Given the description of an element on the screen output the (x, y) to click on. 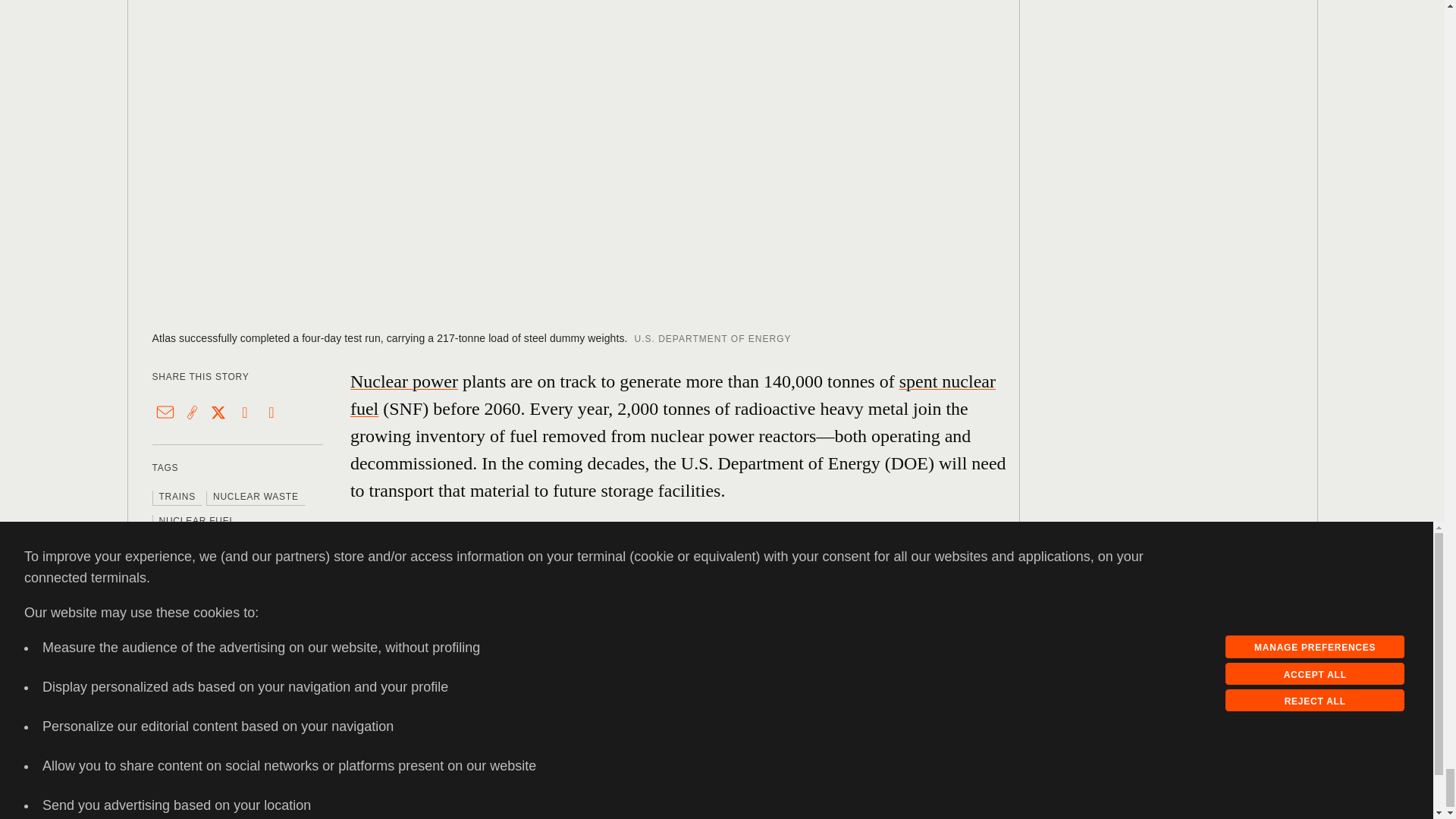
Copy this link to clipboard (192, 412)
